Given the description of an element on the screen output the (x, y) to click on. 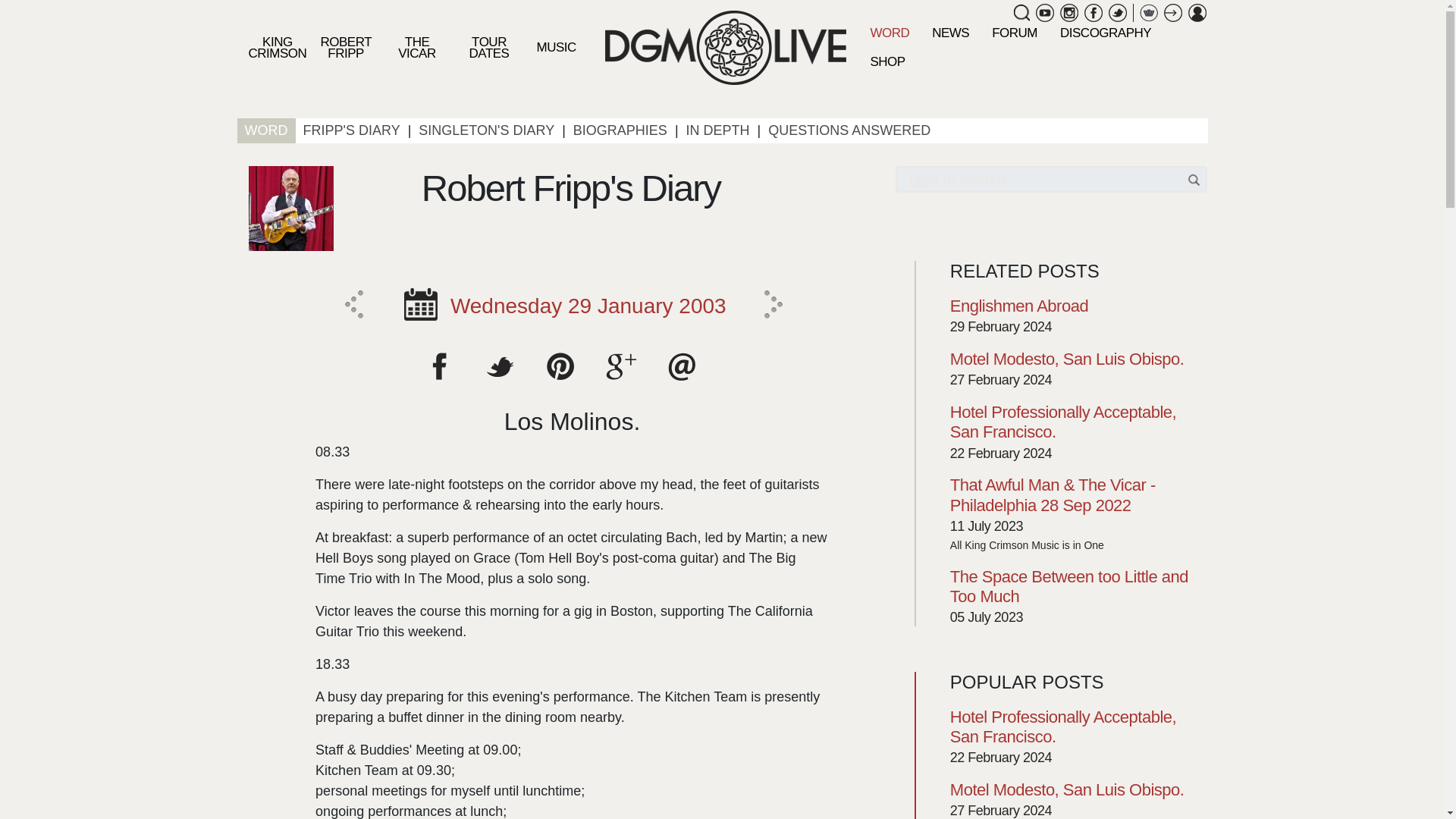
BIOGRAPHIES (620, 130)
WORD (889, 32)
TOUR DATES (488, 47)
THE VICAR (416, 47)
DISCOGRAPHY (1104, 32)
KING CRIMSON (276, 47)
ROBERT FRIPP (345, 47)
WORD (265, 130)
FORUM (1013, 32)
IN DEPTH (717, 130)
submit (1196, 178)
FRIPP'S DIARY (351, 130)
NEWS (949, 32)
QUESTIONS ANSWERED (848, 130)
SINGLETON'S DIARY (486, 130)
